Given the description of an element on the screen output the (x, y) to click on. 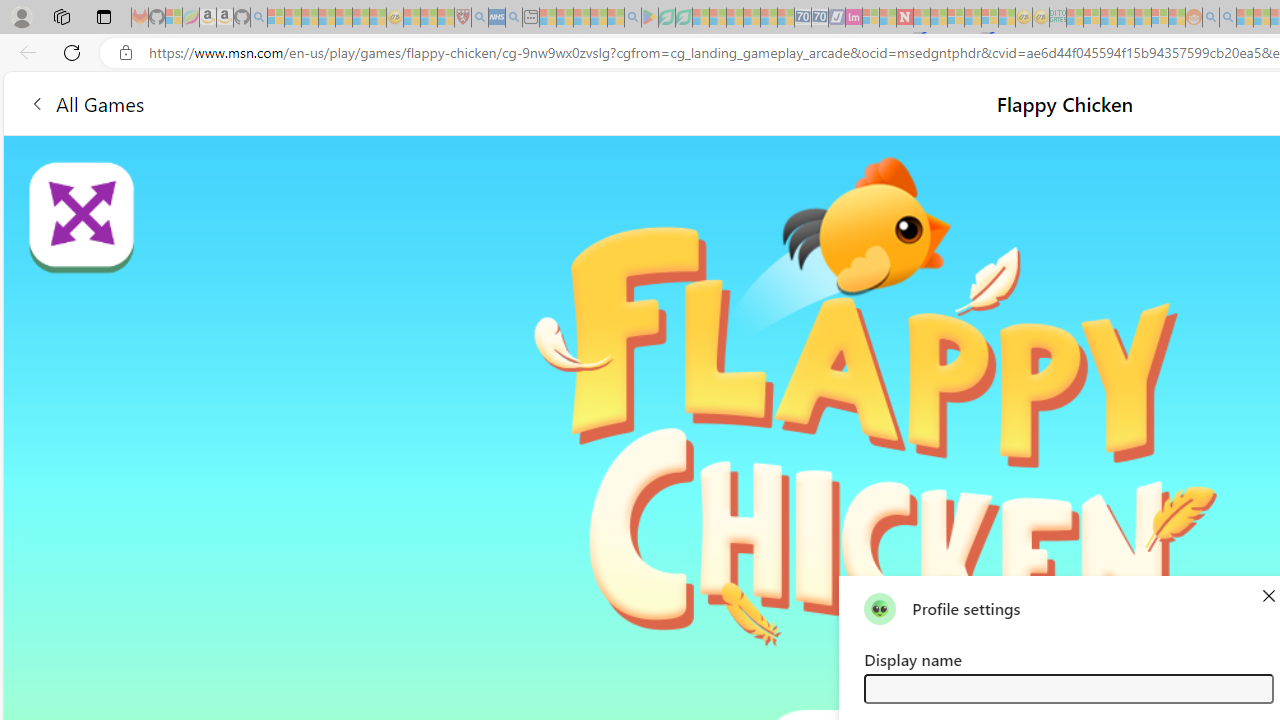
All Games (86, 102)
Expert Portfolios - Sleeping (1125, 17)
